Given the description of an element on the screen output the (x, y) to click on. 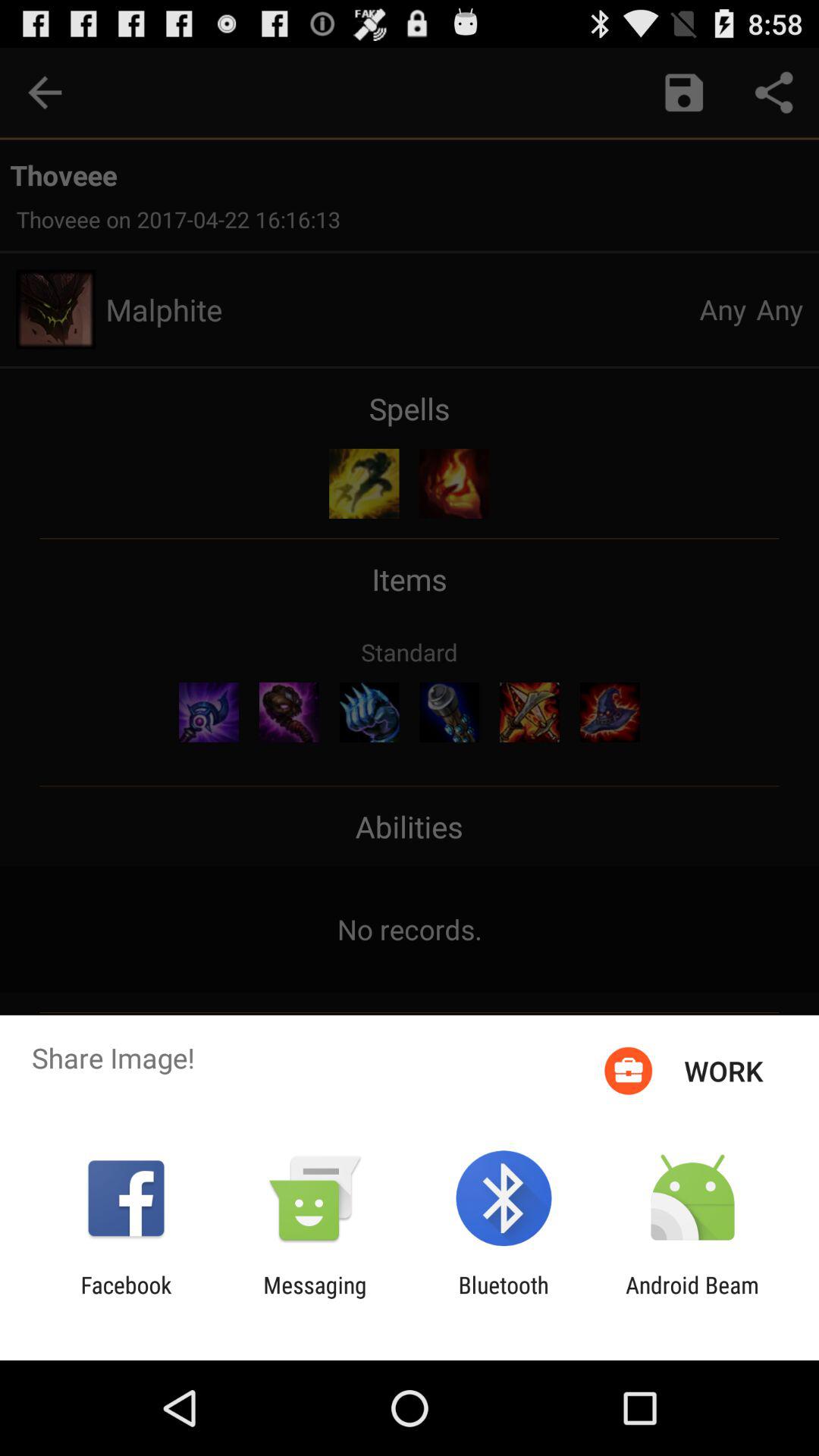
press the item to the right of bluetooth icon (692, 1298)
